Given the description of an element on the screen output the (x, y) to click on. 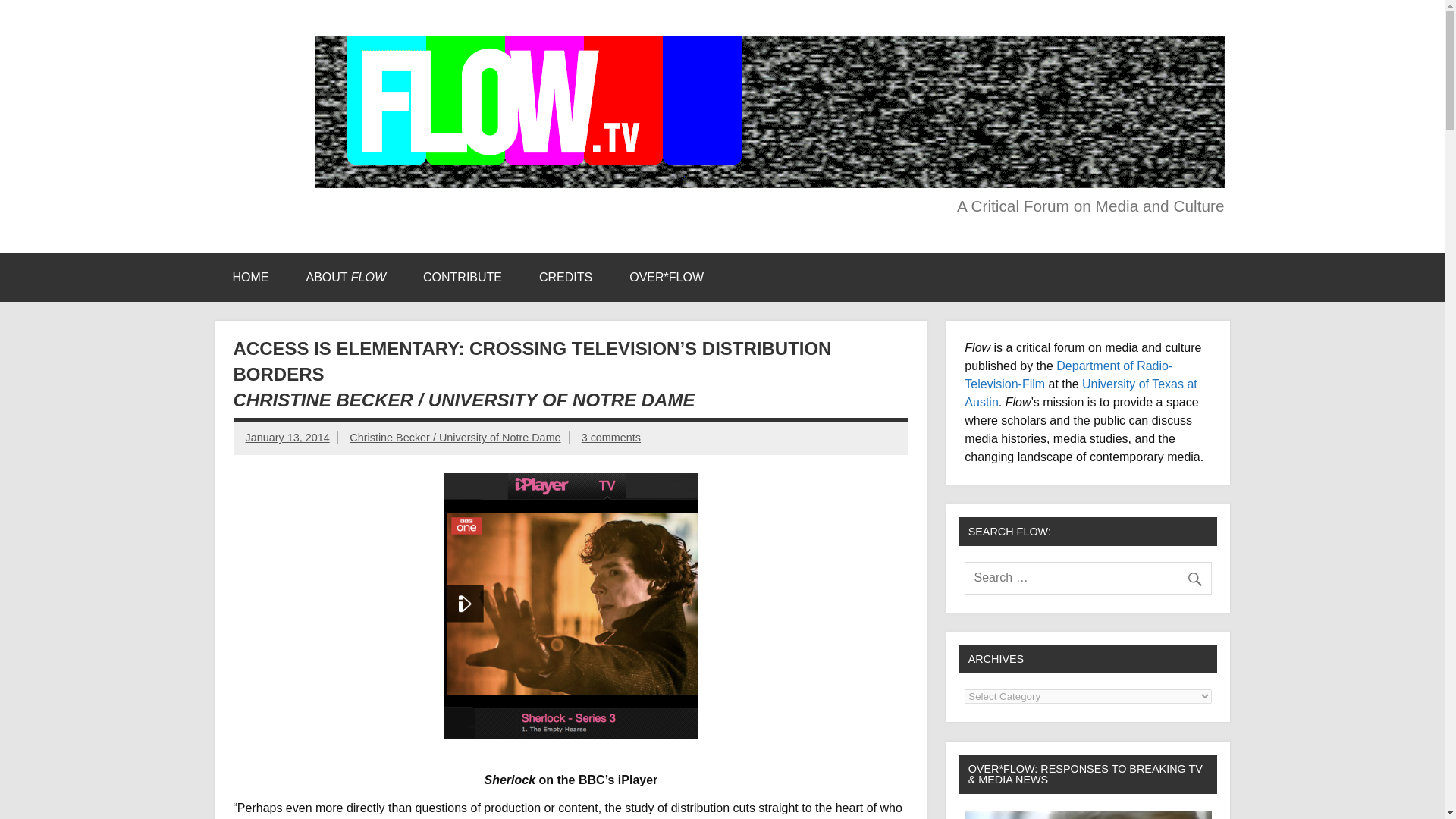
January 13, 2014 (288, 437)
3:11 am (288, 437)
CREDITS (565, 277)
3 comments (610, 437)
HOME (250, 277)
Flow (253, 51)
ABOUT FLOW (346, 277)
CONTRIBUTE (461, 277)
